Given the description of an element on the screen output the (x, y) to click on. 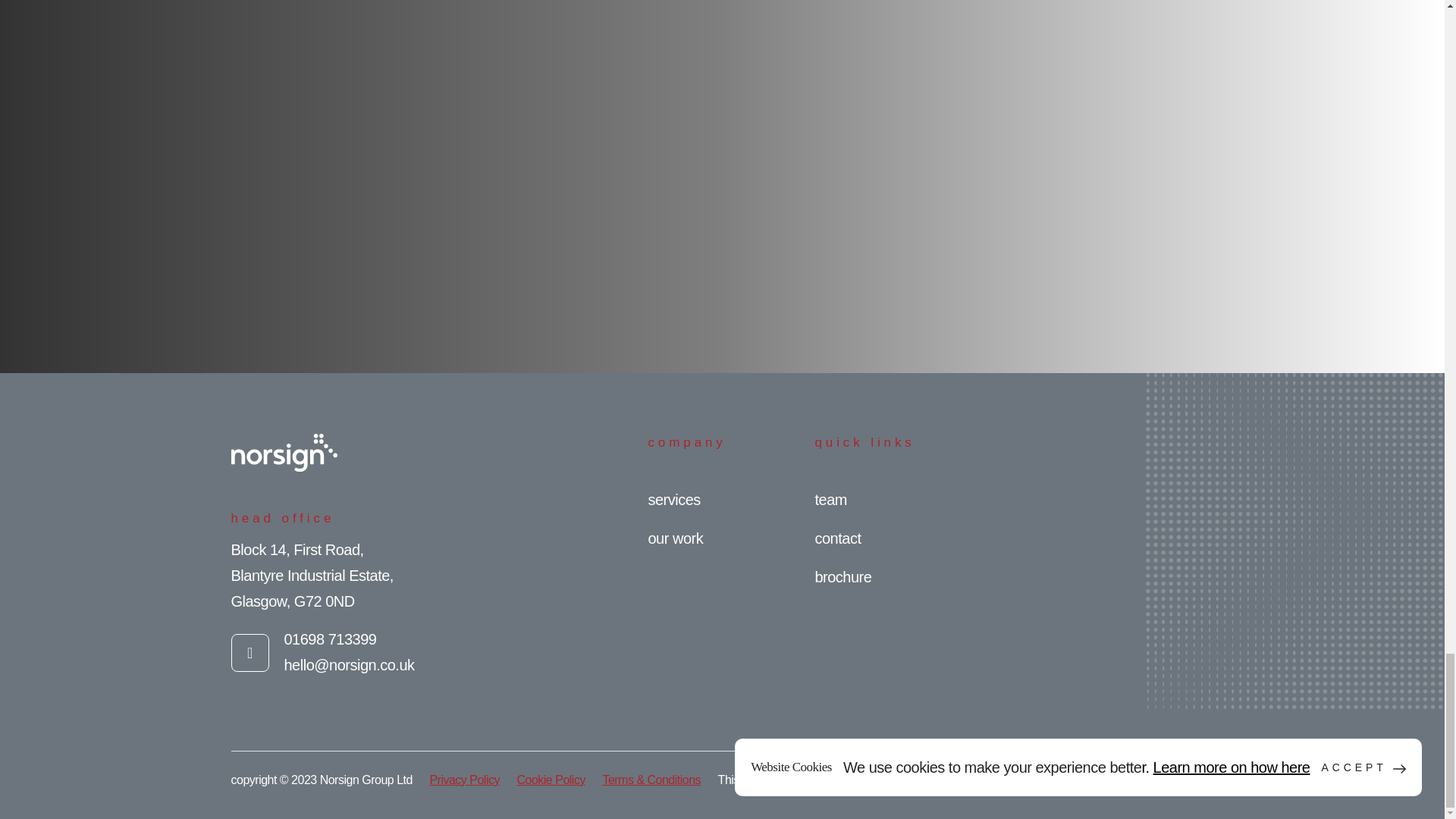
team (829, 499)
brochure (841, 576)
our work (675, 538)
Opens in a new window (1022, 779)
Terms of Service (1123, 779)
Cookie Policy (550, 779)
services (673, 499)
Opens in a new window (248, 652)
Privacy Policy (1022, 779)
Privacy Policy (464, 779)
Opens in a new window (1123, 779)
contact (836, 538)
